Given the description of an element on the screen output the (x, y) to click on. 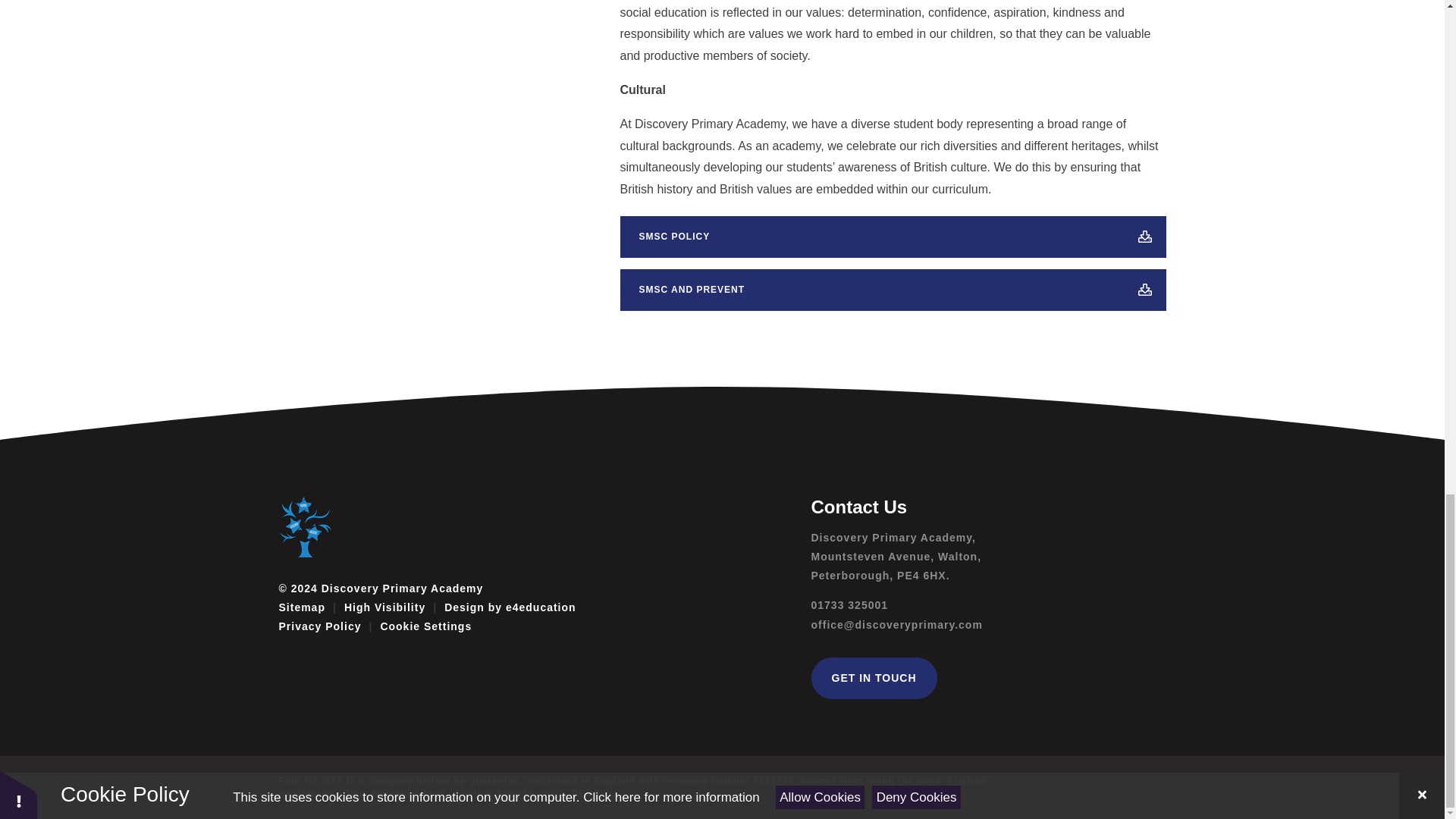
Download (1145, 290)
Download (1145, 236)
Cookie Settings (425, 625)
